Given the description of an element on the screen output the (x, y) to click on. 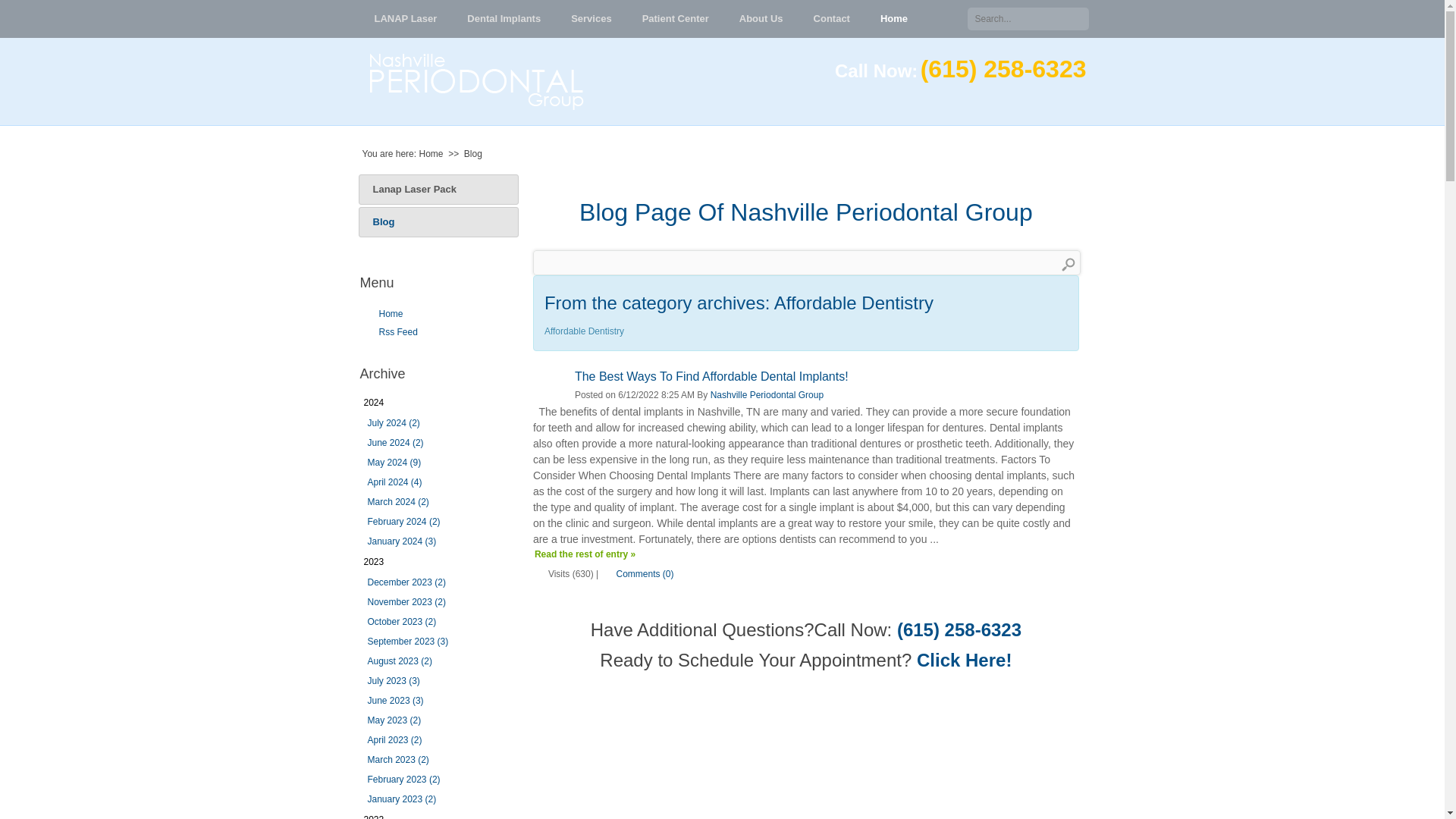
Clear search text (1077, 23)
Dental Implants (503, 18)
Patient Center (675, 18)
Services (591, 18)
LANAP Laser (405, 18)
